Given the description of an element on the screen output the (x, y) to click on. 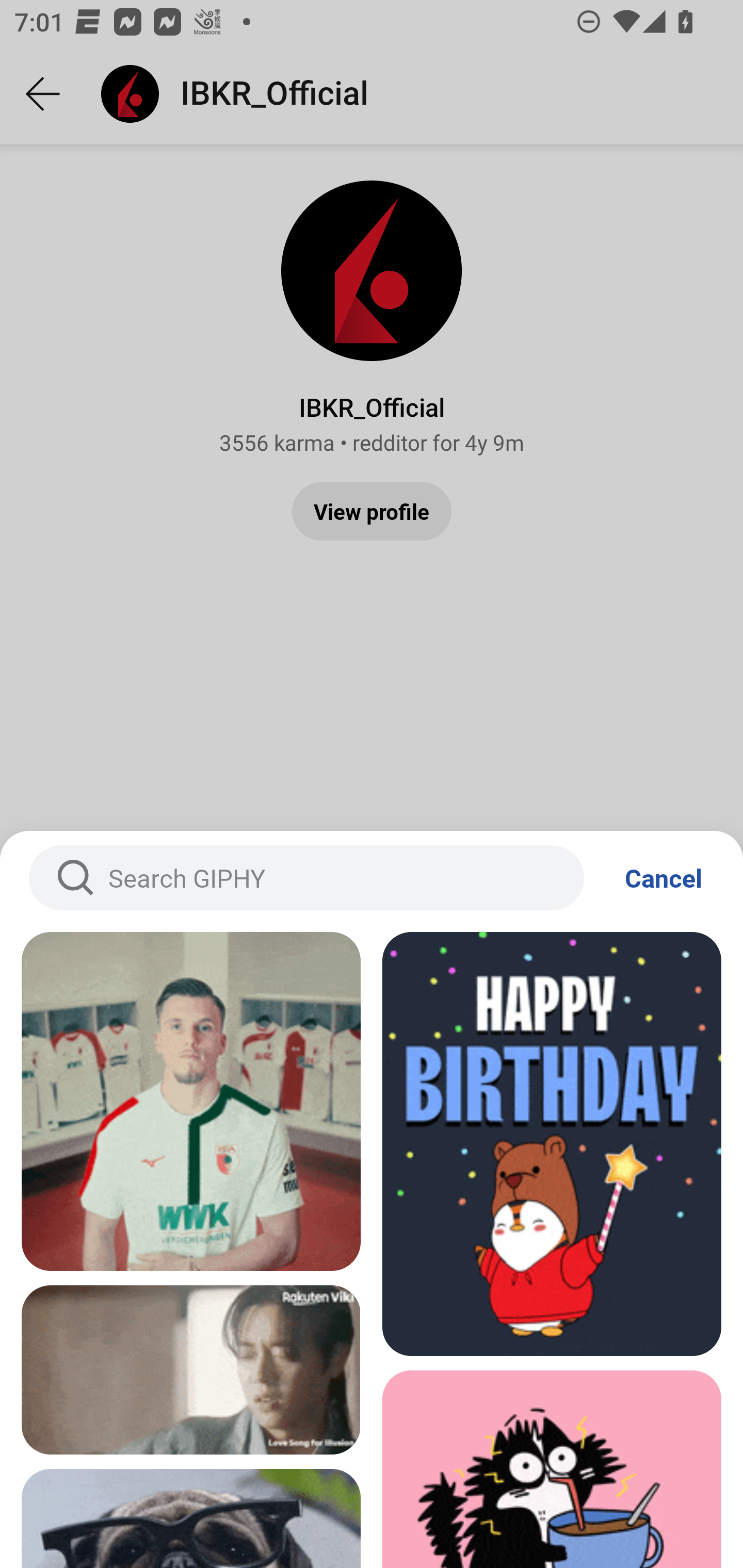
Search GIPHY (305, 878)
Cancel (663, 878)
Gif (190, 1101)
Gif (551, 1143)
Gif (190, 1370)
Gif (551, 1469)
